Given the description of an element on the screen output the (x, y) to click on. 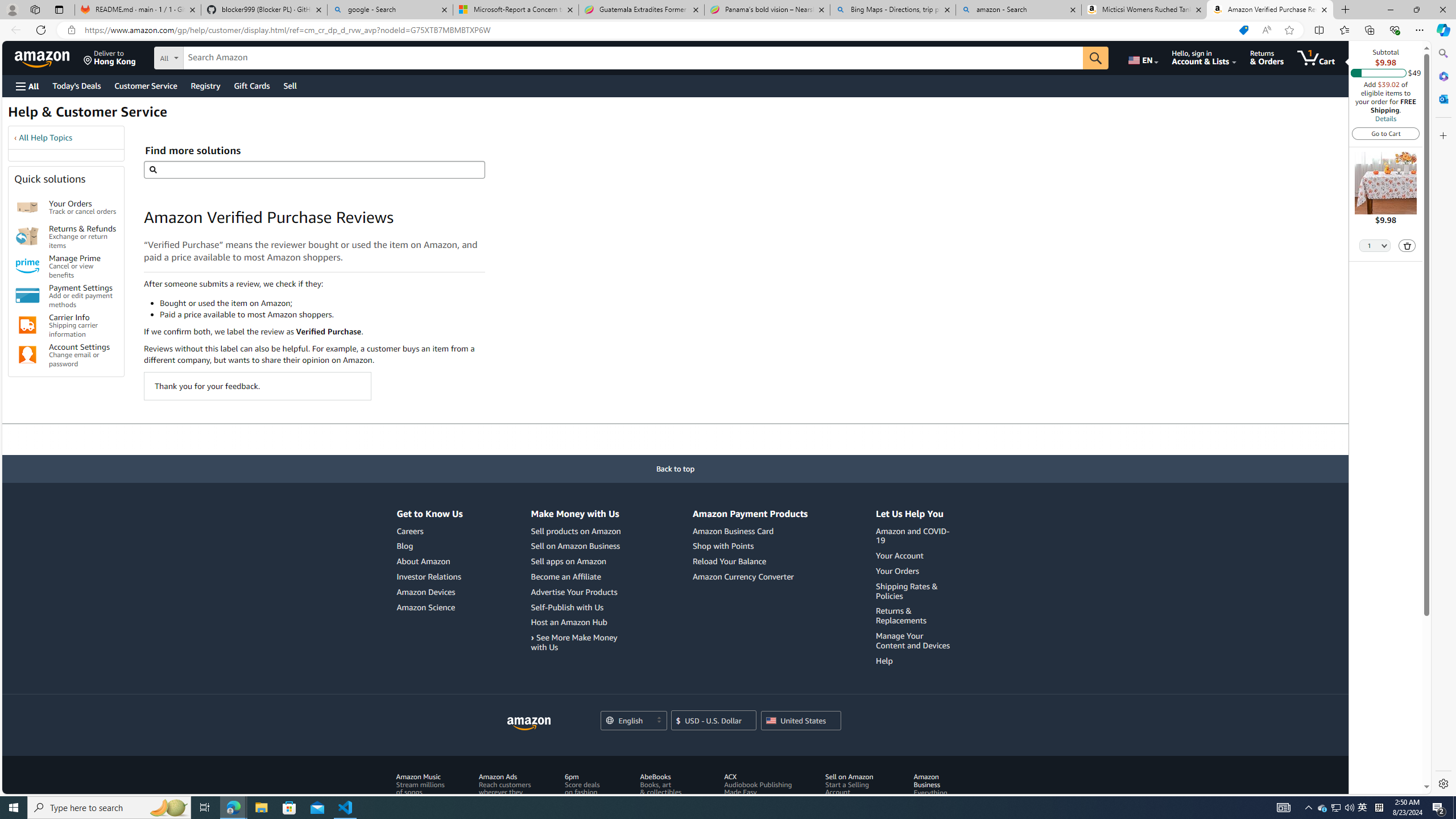
See More Make Money with Us (573, 642)
Account Settings Change email or password (82, 354)
Shop with Points (722, 546)
